Given the description of an element on the screen output the (x, y) to click on. 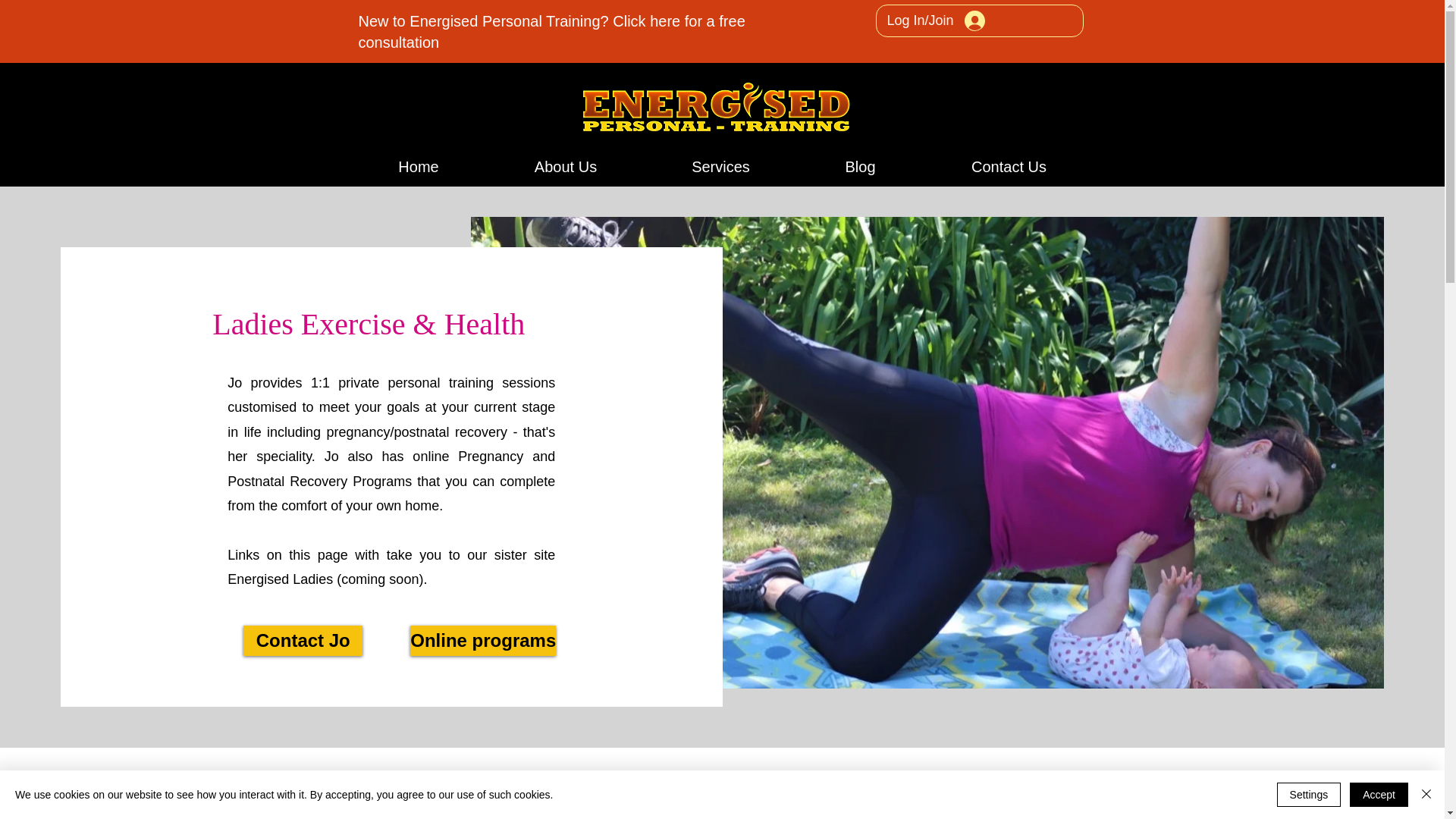
free consultation (551, 31)
Home (418, 166)
Blog (859, 166)
Accept (1378, 794)
Contact Us (1008, 166)
Online programs (483, 640)
Contact Jo (302, 640)
